Given the description of an element on the screen output the (x, y) to click on. 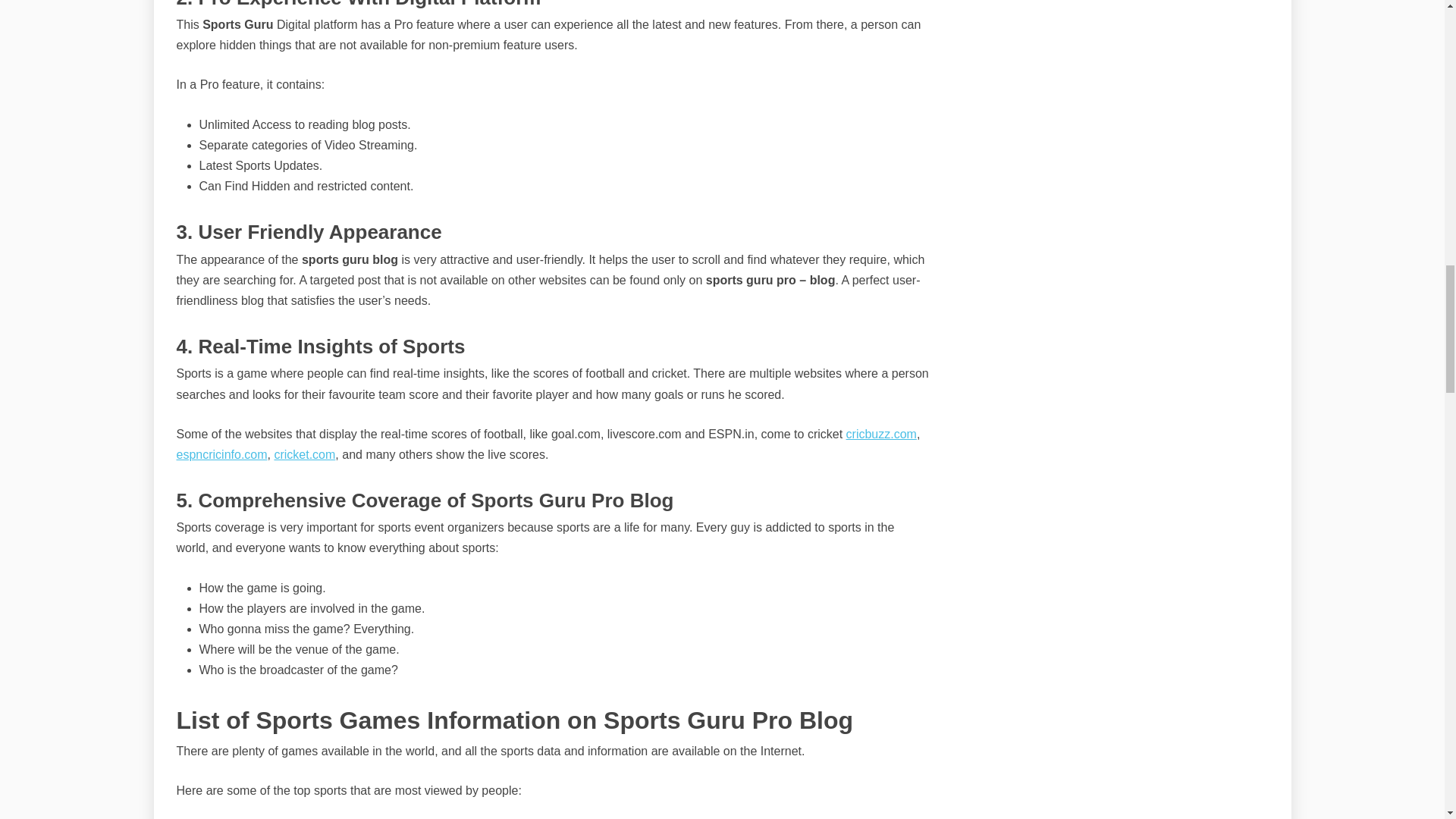
cricbuzz.com (881, 433)
espncricinfo.com (221, 454)
cricket.com (303, 454)
